Given the description of an element on the screen output the (x, y) to click on. 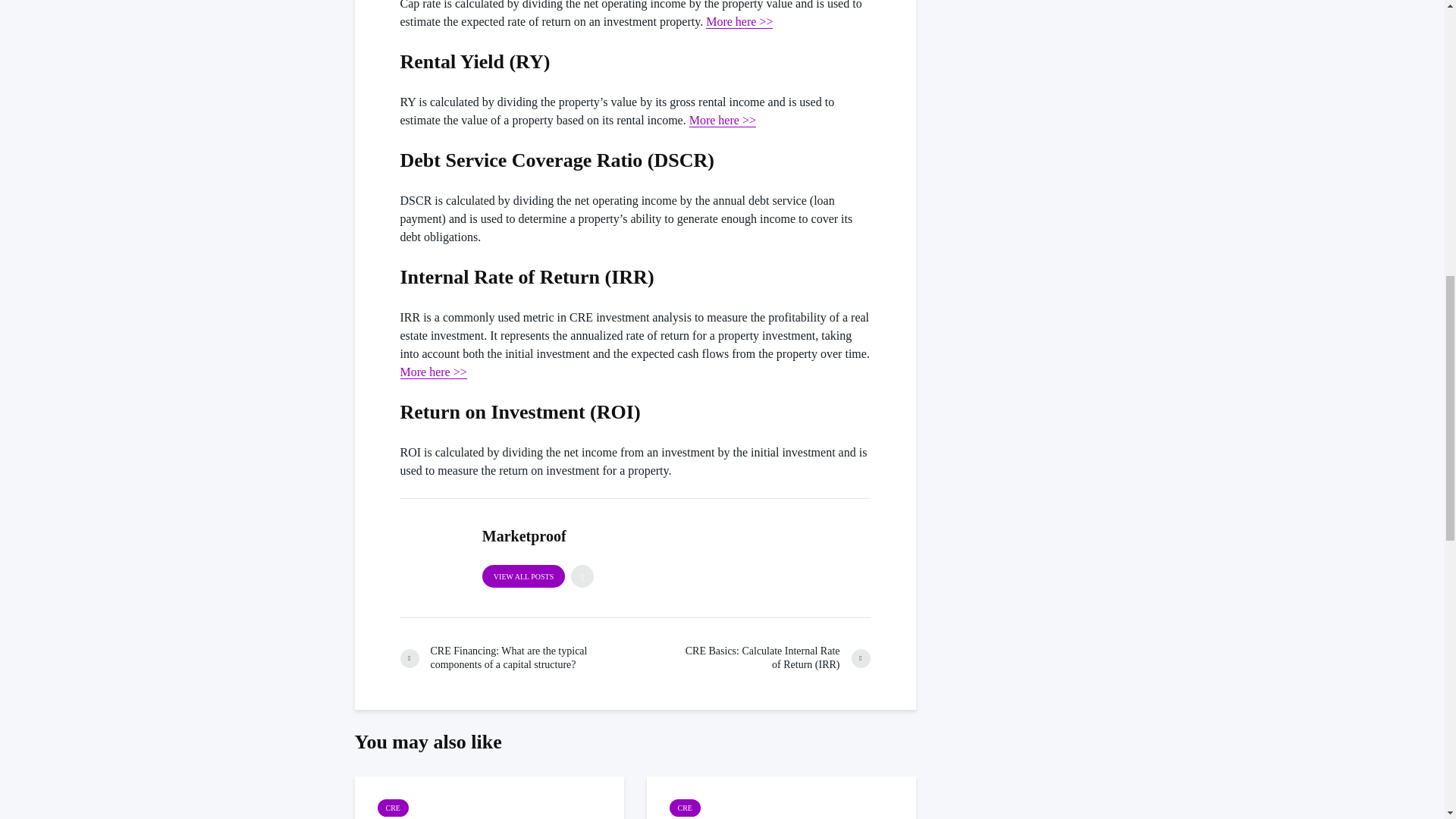
CRE (393, 807)
CRE (684, 807)
VIEW ALL POSTS (522, 576)
